Given the description of an element on the screen output the (x, y) to click on. 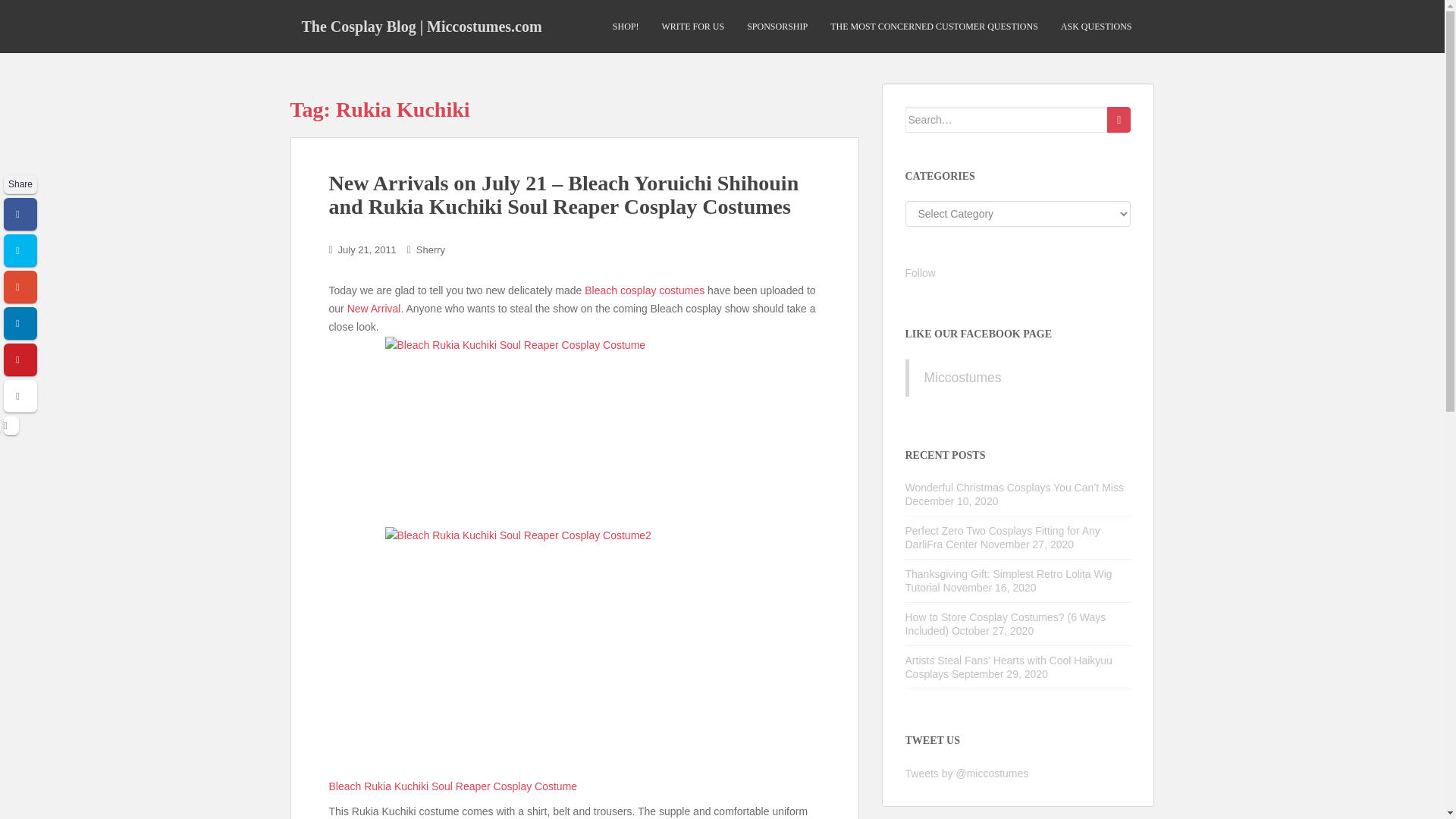
Miccostumes (962, 377)
July 21, 2011 (366, 249)
SPONSORSHIP (777, 26)
More... (20, 395)
THE MOST CONCERNED CUSTOMER QUESTIONS (933, 26)
WRITE FOR US (692, 26)
Thanksgiving Gift: Simplest Retro Lolita Wig Tutorial (1008, 580)
Perfect Zero Two Cosplays Fitting for Any DarliFra Center (1002, 537)
Sherry (430, 249)
